Given the description of an element on the screen output the (x, y) to click on. 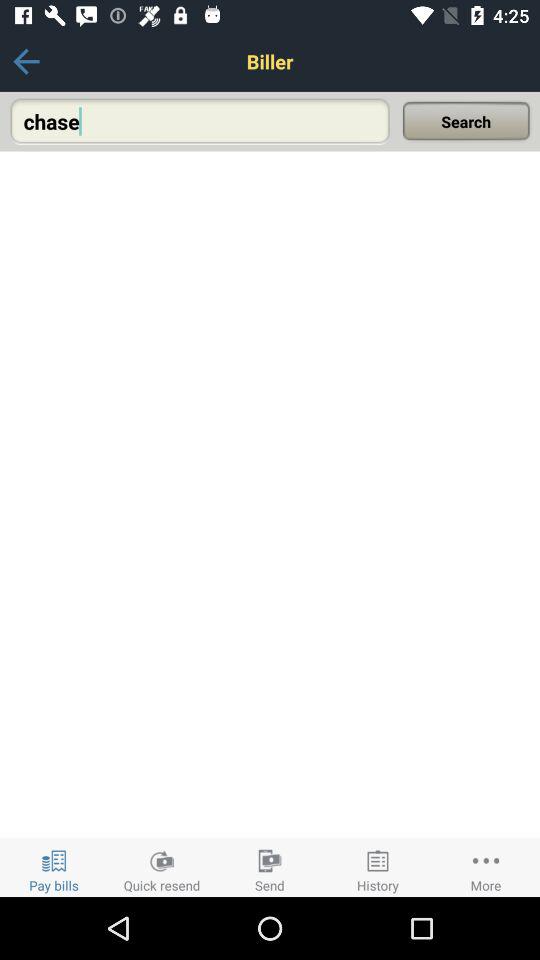
back (26, 61)
